Given the description of an element on the screen output the (x, y) to click on. 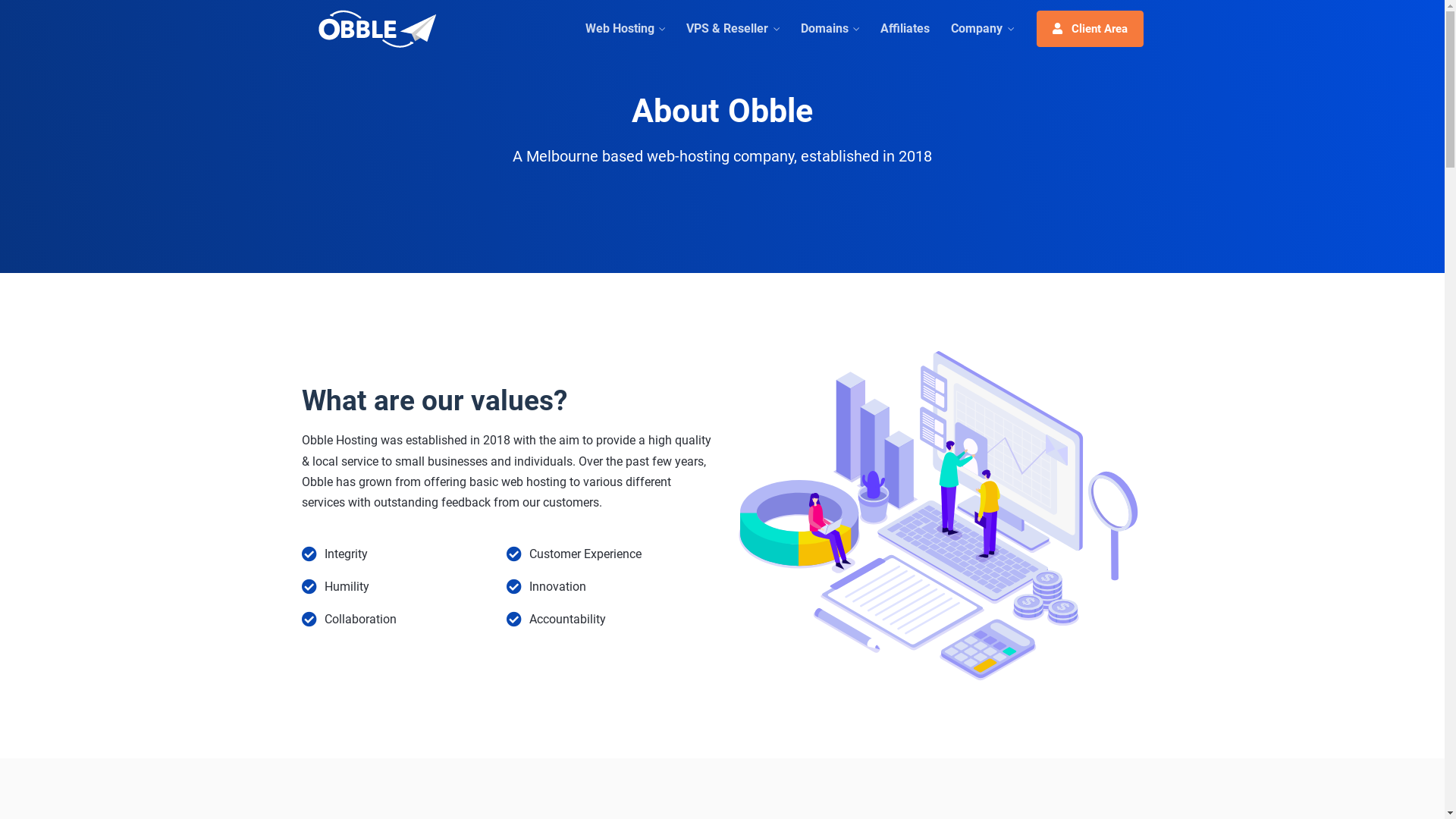
Web Hosting Element type: text (624, 28)
VPS & Reseller Element type: text (732, 28)
Affiliates Element type: text (904, 28)
Client Area Element type: text (1088, 28)
Company Element type: text (981, 28)
Domains Element type: text (829, 28)
